Given the description of an element on the screen output the (x, y) to click on. 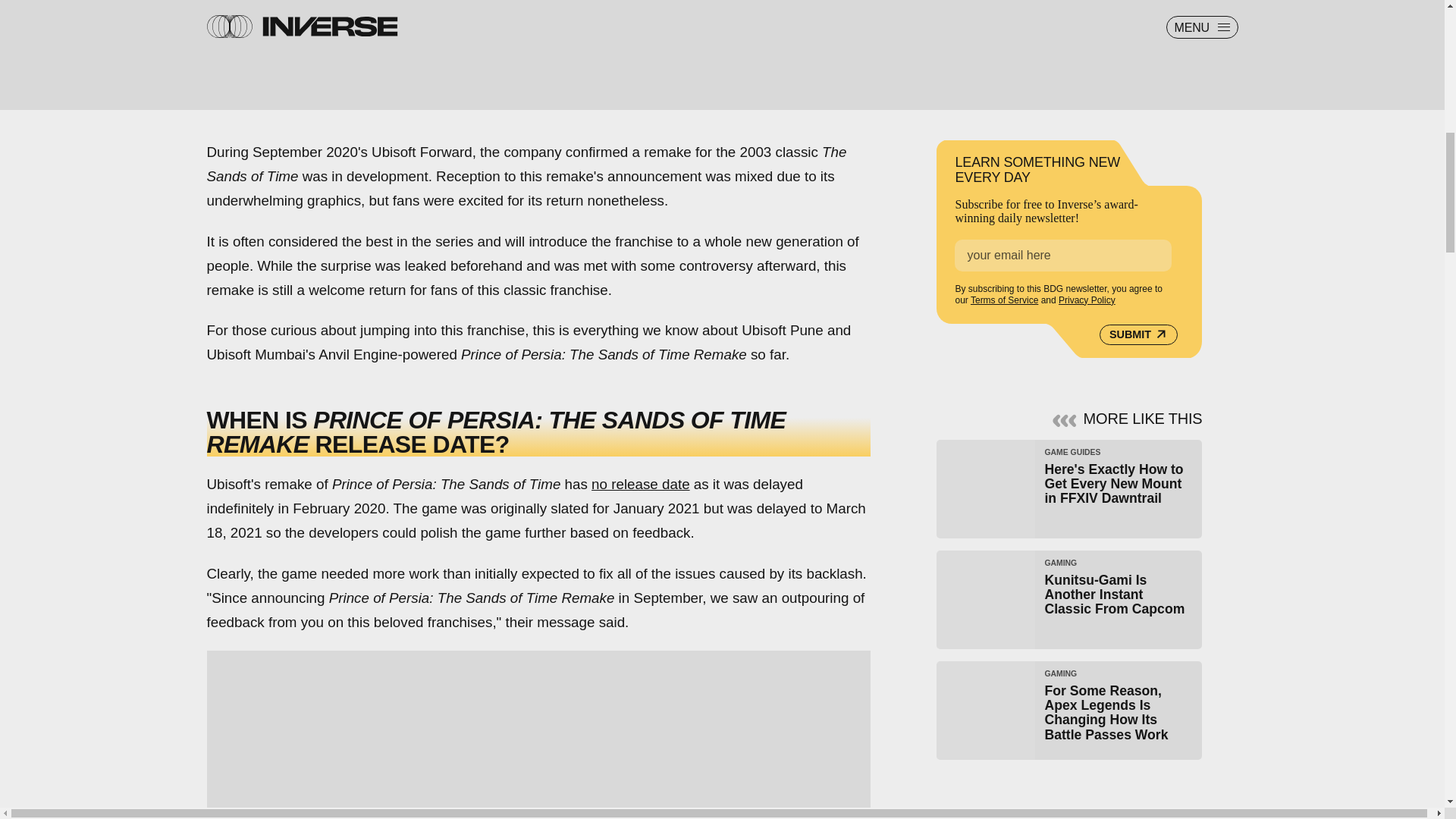
Privacy Policy (1086, 299)
Terms of Service (1004, 299)
SUBMIT (1069, 599)
